Given the description of an element on the screen output the (x, y) to click on. 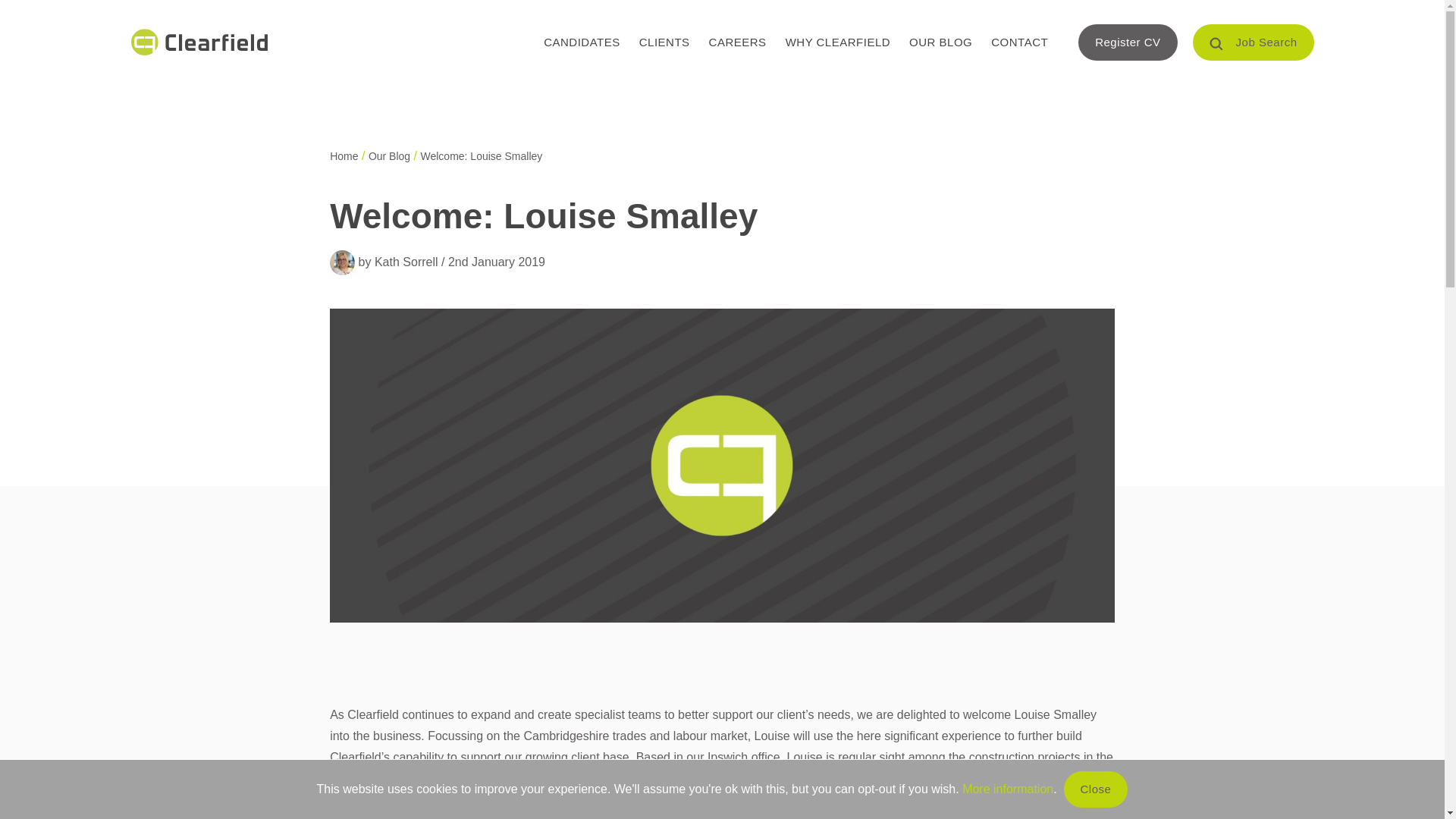
CAREERS (738, 42)
CLIENTS (664, 42)
CONTACT (1019, 42)
OUR BLOG (940, 42)
Register CV (1127, 42)
CANDIDATES (581, 42)
Job Search (1253, 42)
WHY CLEARFIELD (837, 42)
